Given the description of an element on the screen output the (x, y) to click on. 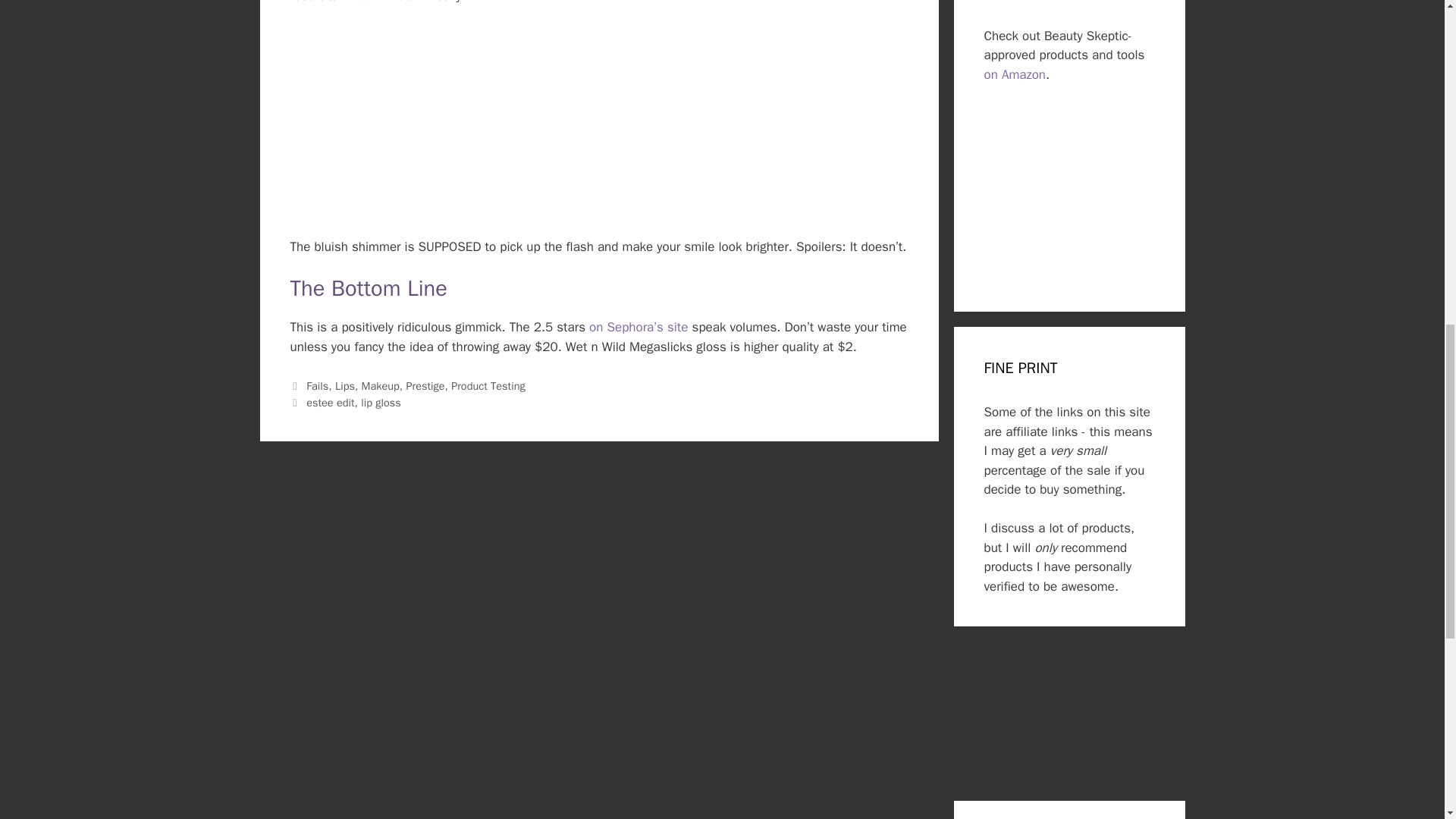
lip gloss (380, 402)
on Amazon (1015, 74)
Product Testing (487, 386)
Fails (317, 386)
Lips (344, 386)
micellar water (381, 2)
estee edit (329, 402)
Advertisement (1069, 717)
Prestige (425, 386)
Advertisement (1069, 182)
